Given the description of an element on the screen output the (x, y) to click on. 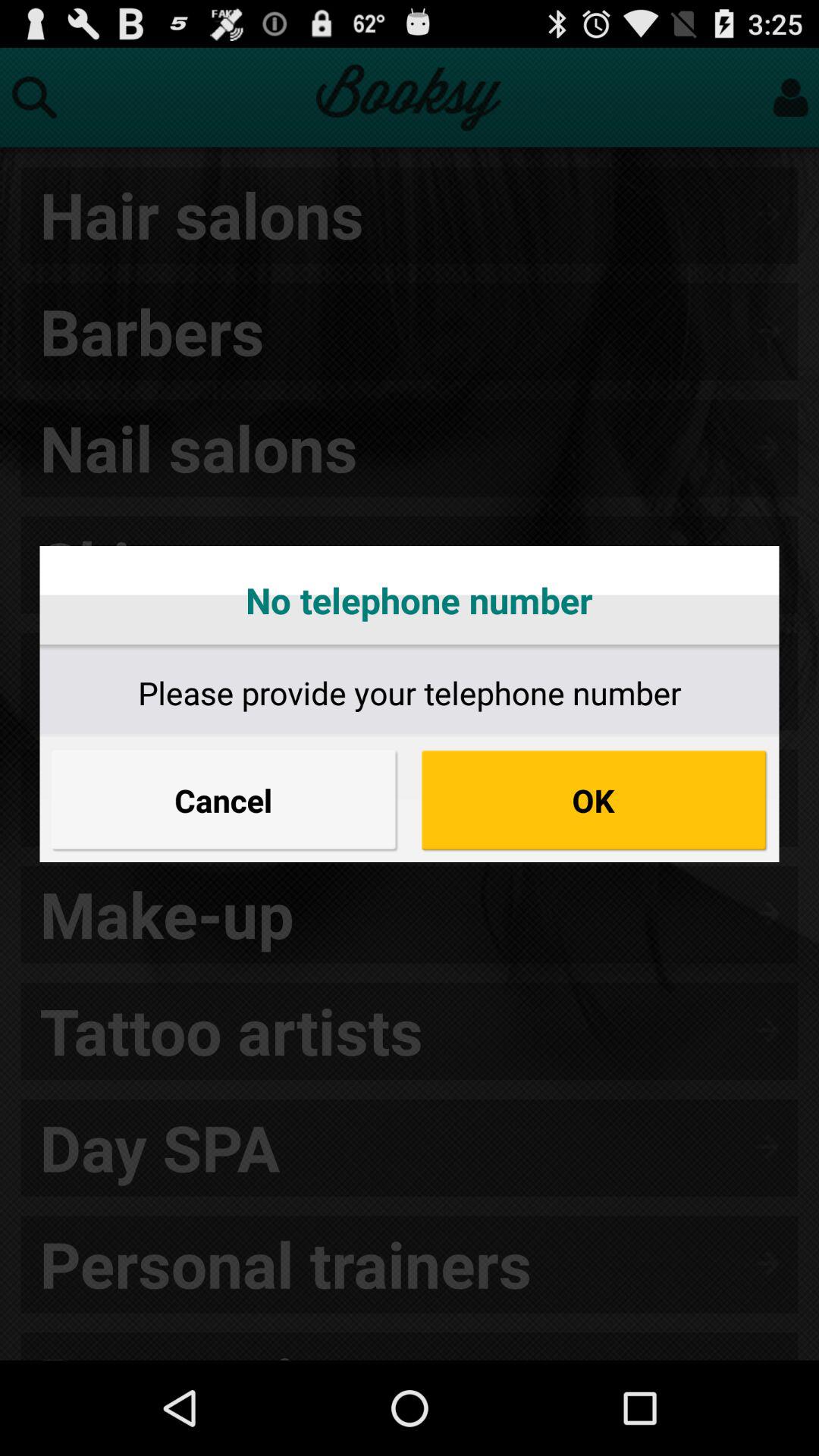
open the item to the right of the cancel icon (593, 799)
